Given the description of an element on the screen output the (x, y) to click on. 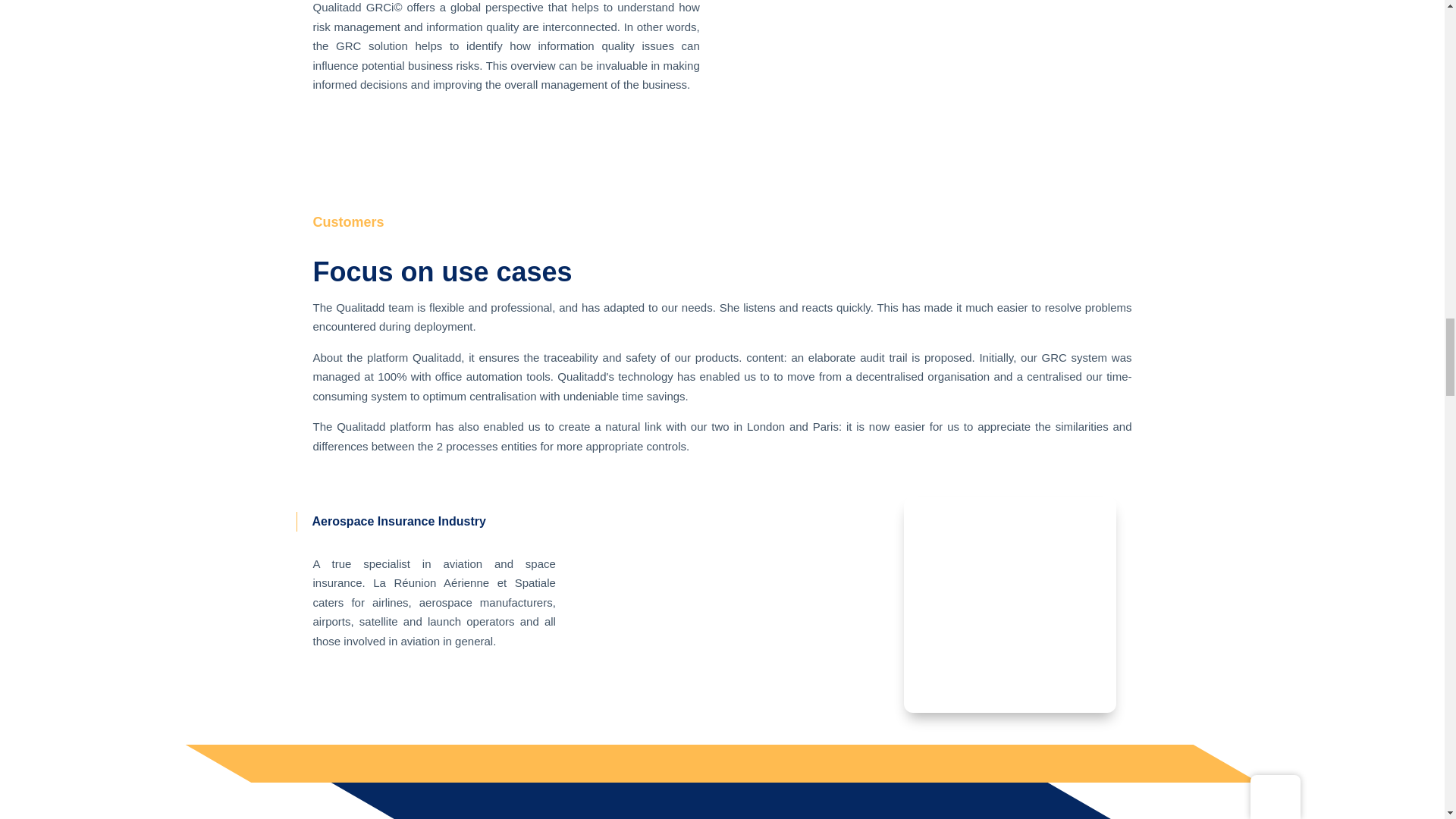
aerial meeting (721, 609)
LRA (1010, 604)
